Given the description of an element on the screen output the (x, y) to click on. 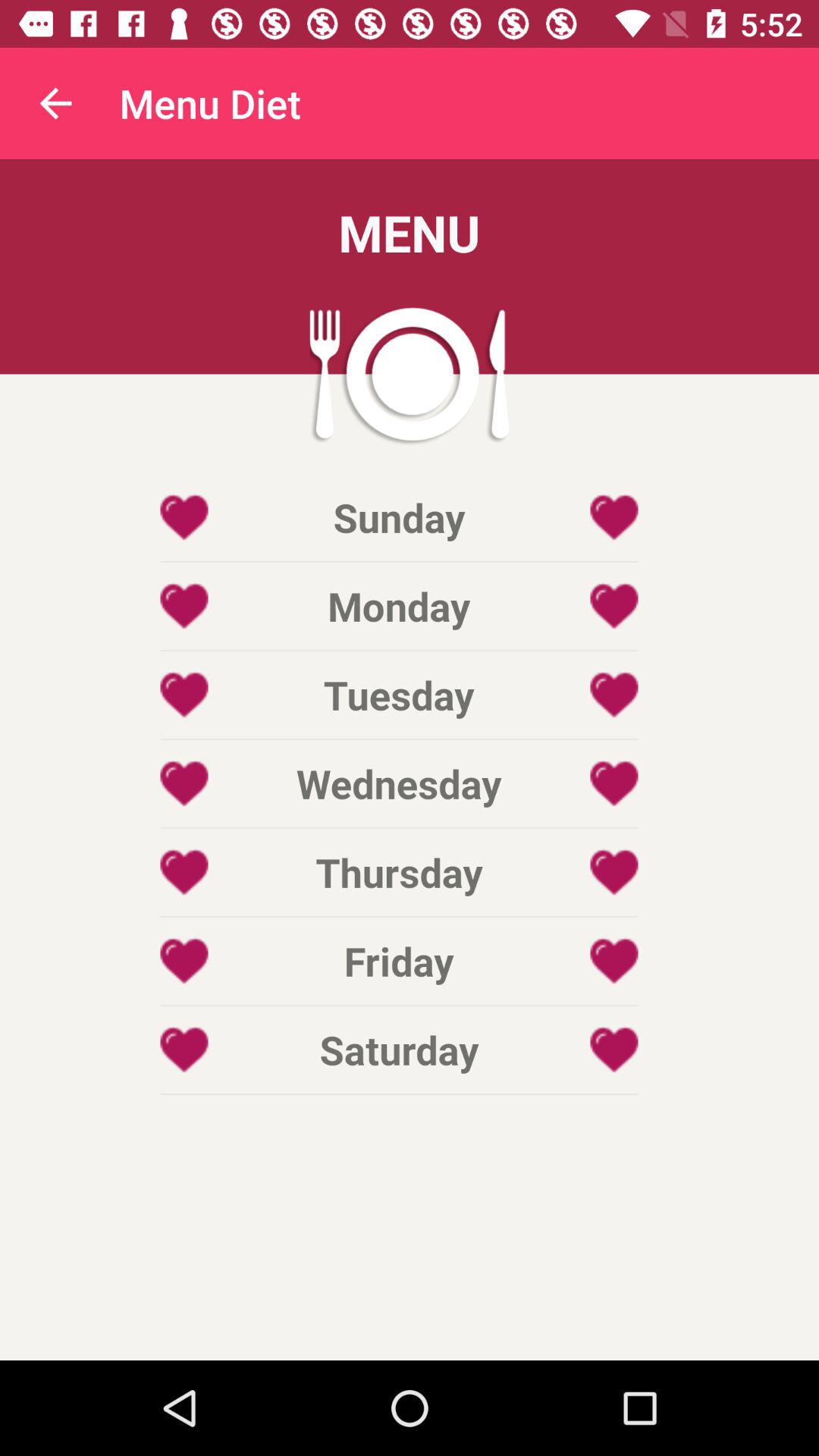
press icon above friday (398, 871)
